Given the description of an element on the screen output the (x, y) to click on. 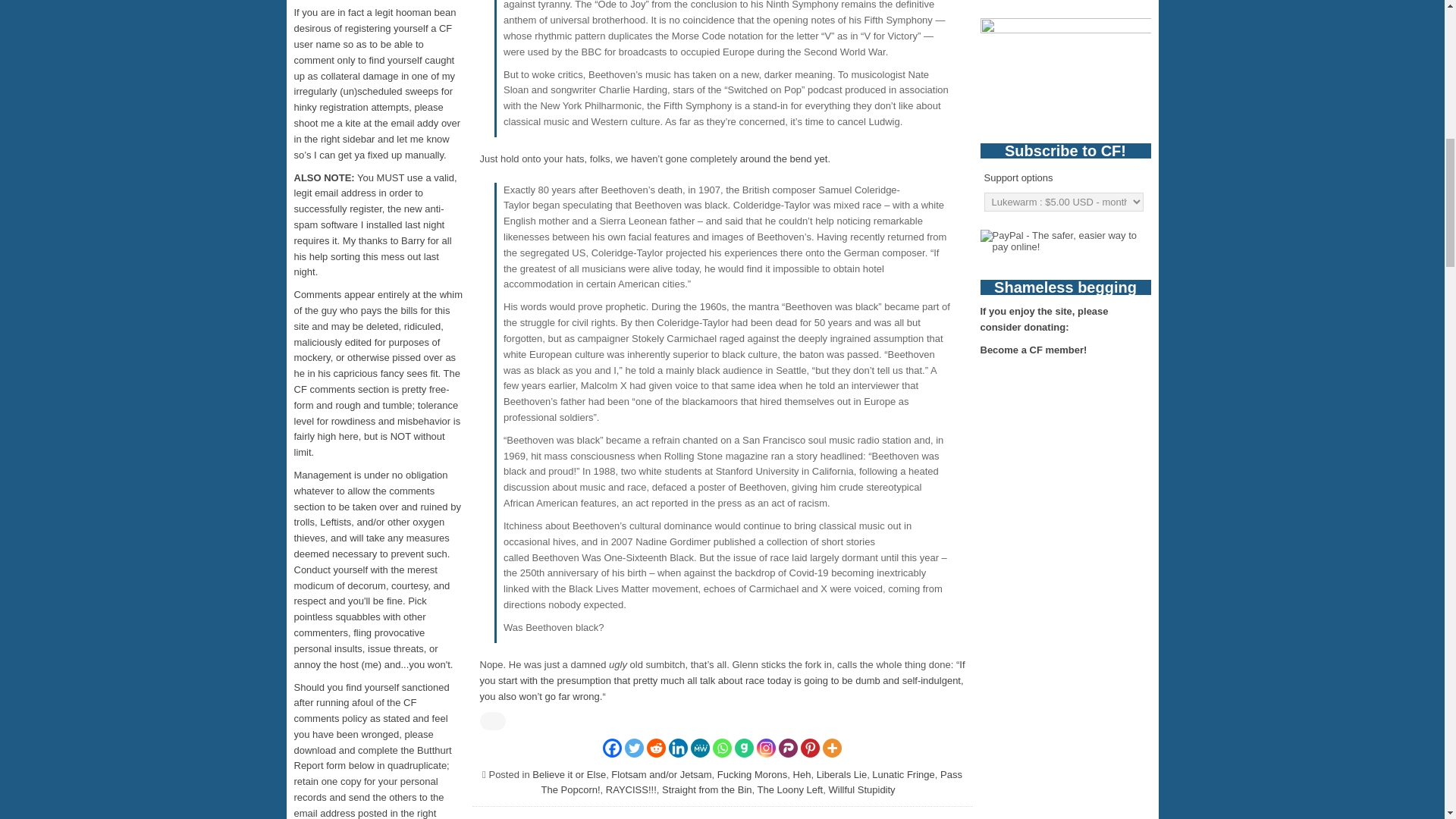
But almost (783, 158)
More (831, 747)
Reddit (655, 747)
Gab (744, 747)
No lie (721, 680)
Instagram (766, 747)
Whatsapp (722, 747)
Parler (787, 747)
Linkedin (677, 747)
Facebook (611, 747)
